Given the description of an element on the screen output the (x, y) to click on. 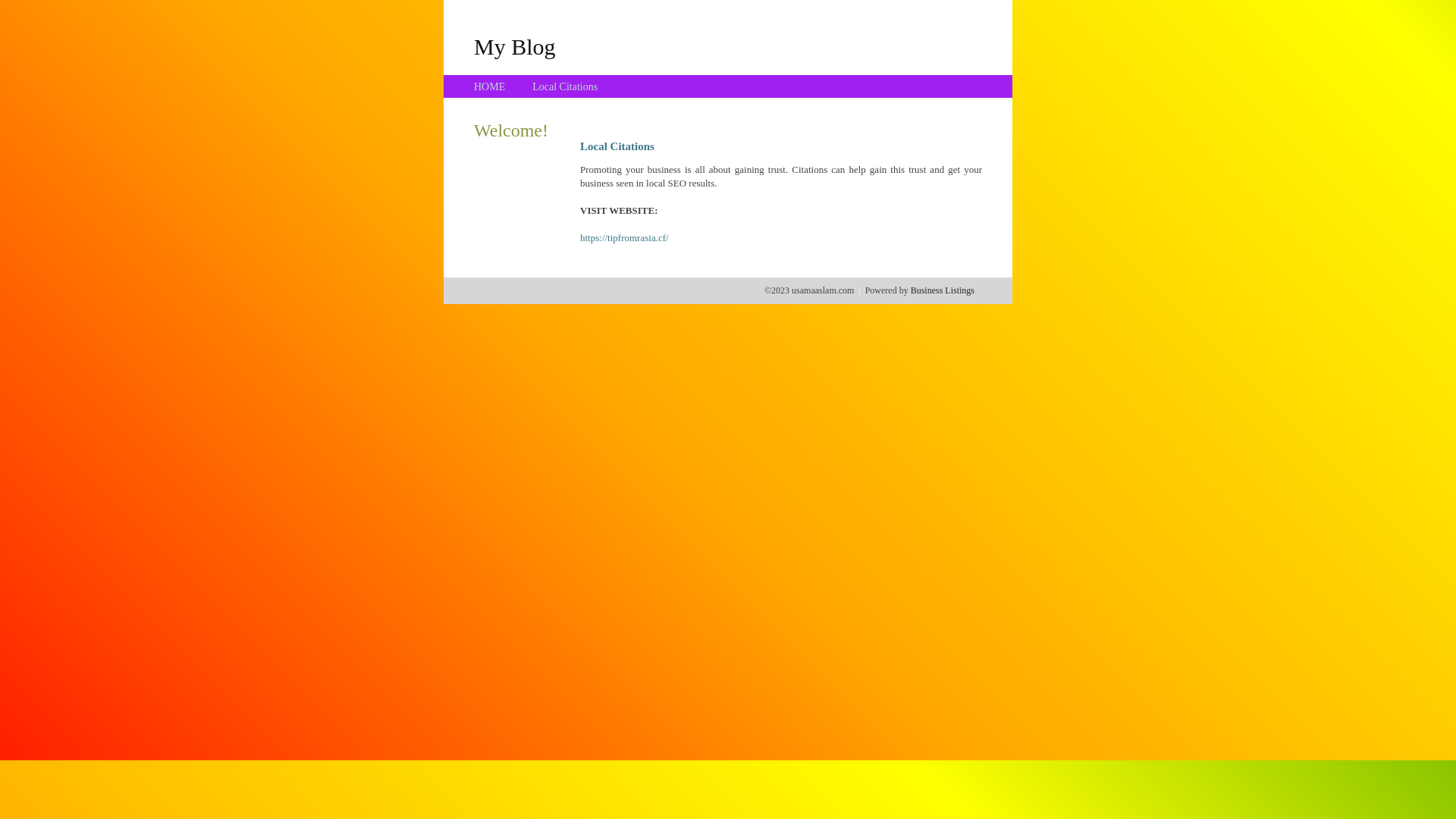
Local Citations Element type: text (564, 86)
https://tipfromrasia.cf/ Element type: text (624, 237)
Business Listings Element type: text (942, 290)
HOME Element type: text (489, 86)
My Blog Element type: text (514, 46)
